Given the description of an element on the screen output the (x, y) to click on. 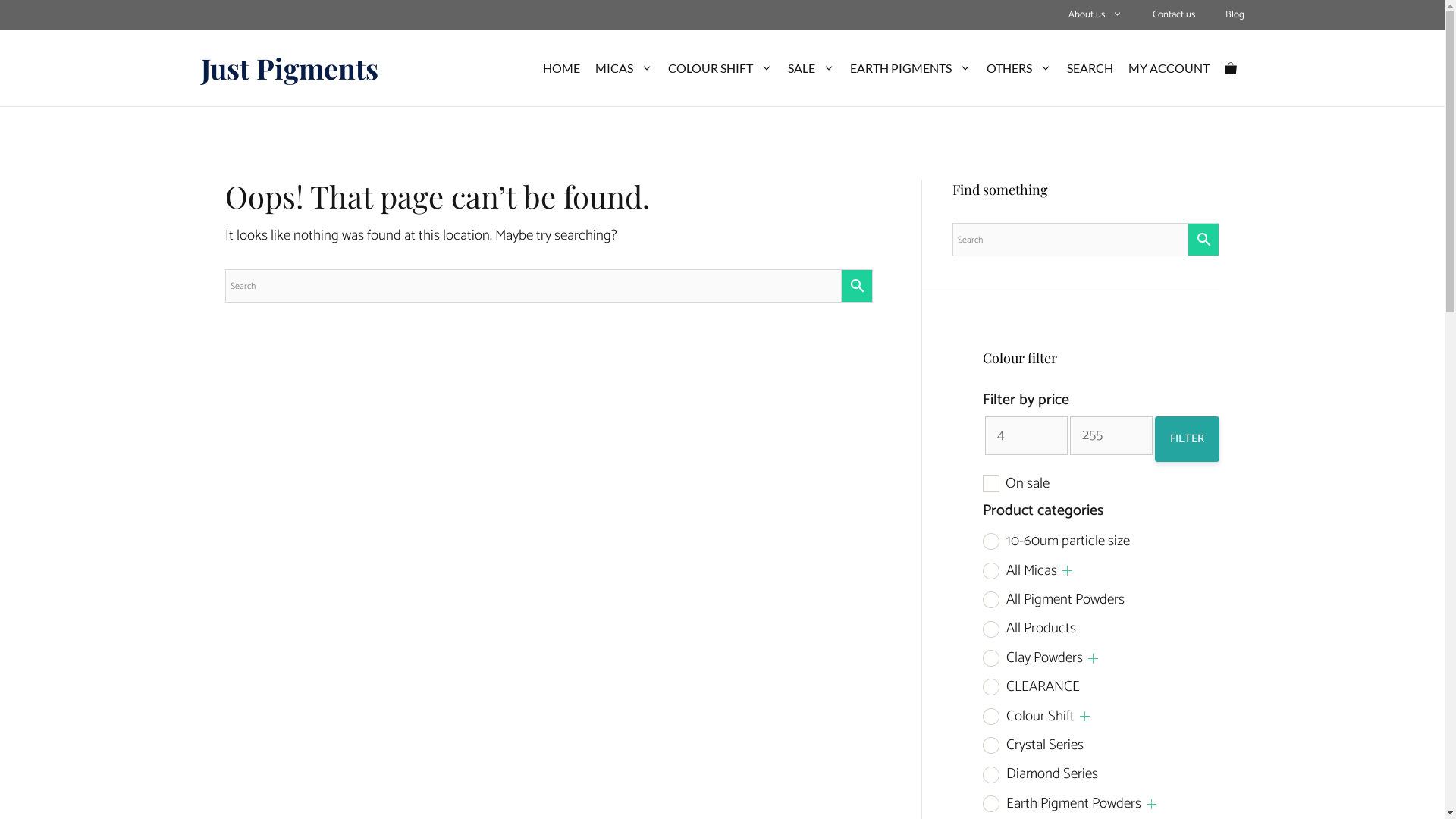
MY ACCOUNT Element type: text (1168, 68)
SEARCH Element type: text (1089, 68)
FILTER Element type: text (1186, 438)
View your shopping cart Element type: hover (1229, 68)
OTHERS Element type: text (1018, 68)
Contact us Element type: text (1173, 15)
COLOUR SHIFT Element type: text (719, 68)
HOME Element type: text (561, 68)
MICAS Element type: text (622, 68)
About us Element type: text (1094, 15)
SALE Element type: text (810, 68)
Blog Element type: text (1234, 15)
Just Pigments Element type: text (288, 67)
EARTH PIGMENTS Element type: text (909, 68)
